Given the description of an element on the screen output the (x, y) to click on. 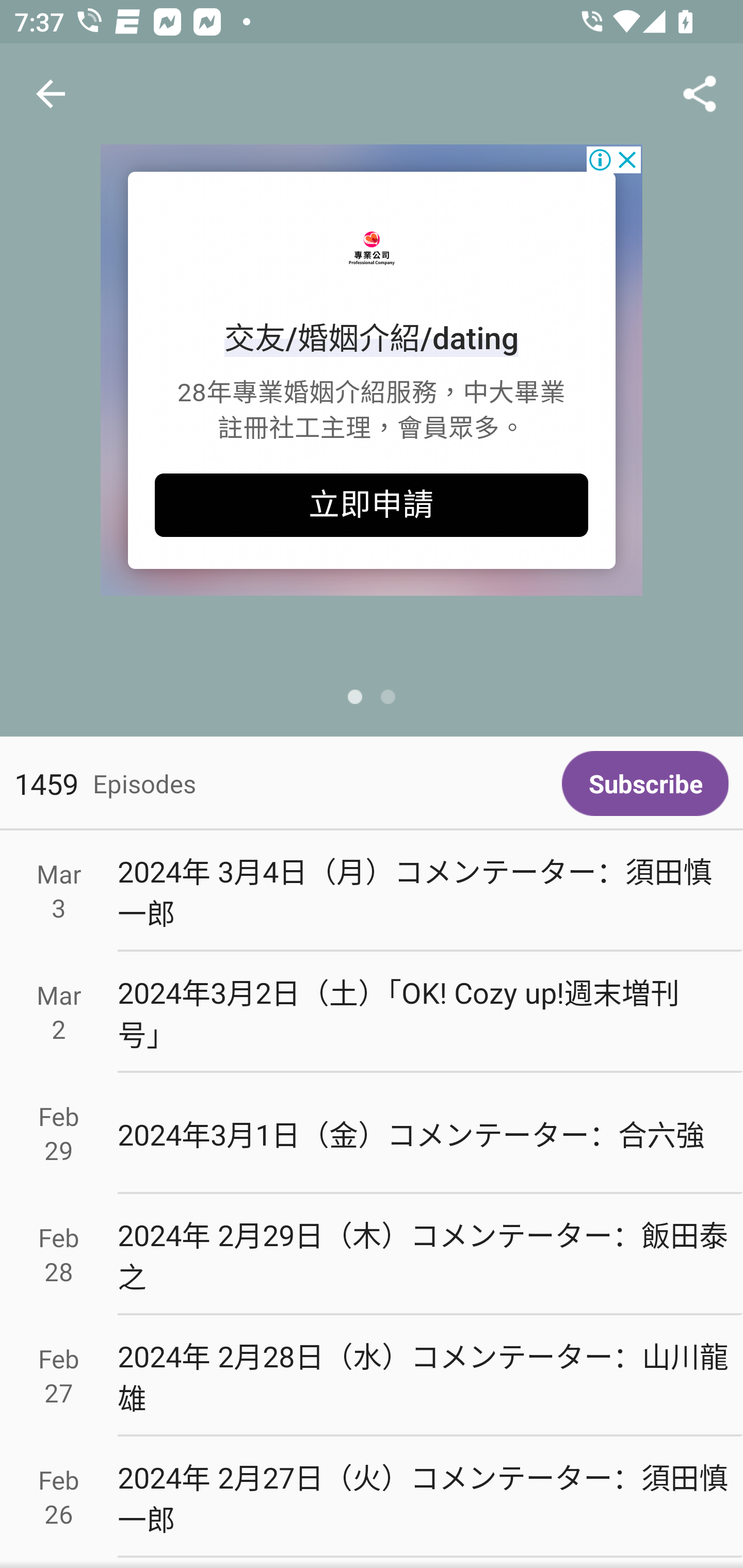
Navigate up (50, 93)
Share... (699, 93)
交友/婚姻介紹/dating (371, 338)
立即申請 (371, 505)
Subscribe (644, 783)
Mar 3 2024年 3月4日（月）コメンテーター：須田慎一郎 (371, 891)
Mar 2 2024年3月2日（土）「OK! Cozy up!週末増刊号」 (371, 1011)
Feb 29 2024年3月1日（金）コメンテーター：合六強 (371, 1133)
Feb 28 2024年 2月29日（木）コメンテーター：飯田泰之 (371, 1254)
Feb 27 2024年 2月28日（水）コメンテーター：山川龍雄 (371, 1375)
Feb 26 2024年 2月27日（火）コメンテーター：須田慎一郎 (371, 1496)
